Given the description of an element on the screen output the (x, y) to click on. 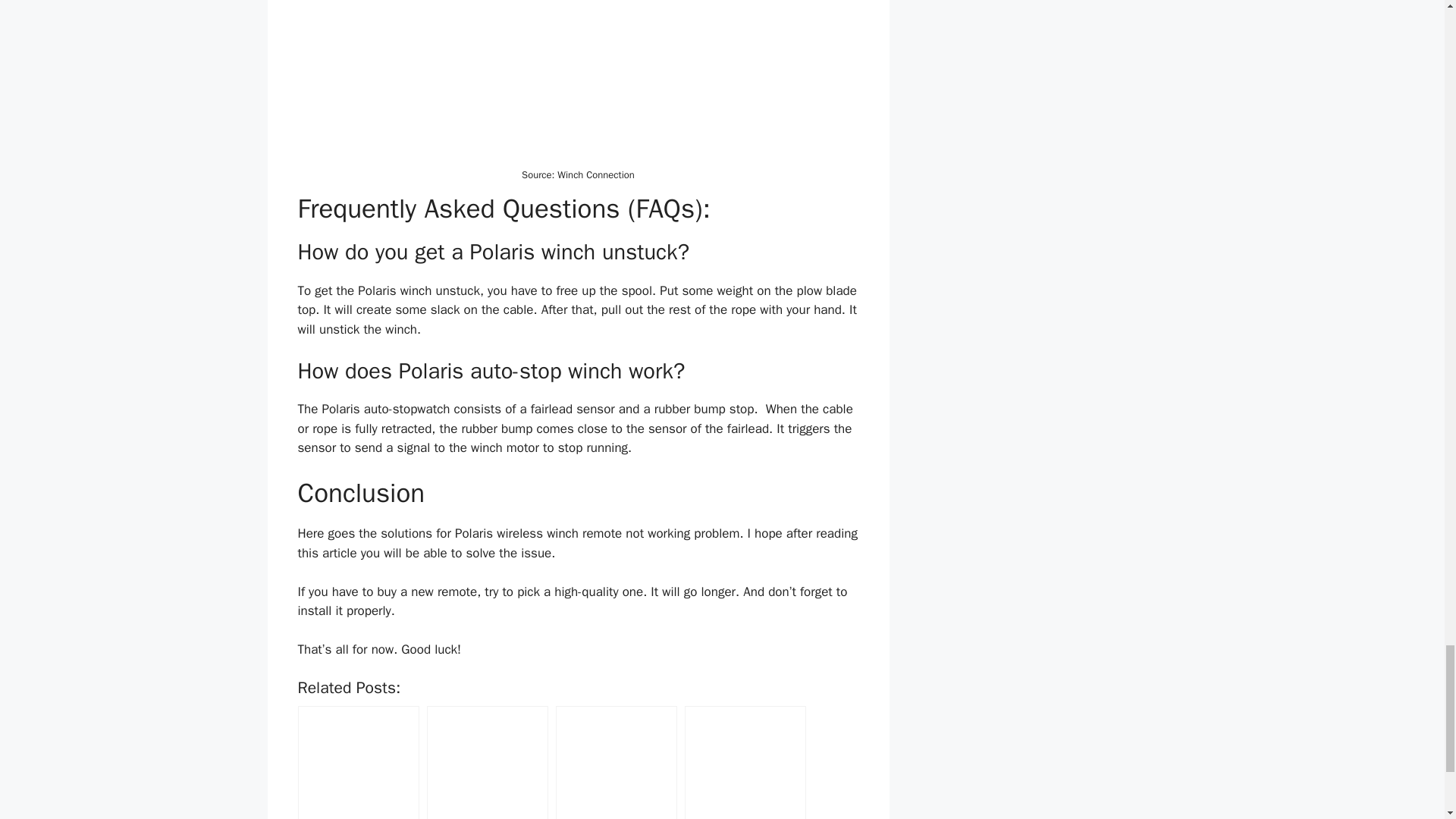
What is Your Fuel Trim Telling You (487, 762)
What is Your Fuel Trim Telling You (487, 762)
How To Troubleshoot P0171 and P0174 Codes (358, 762)
Five Symptoms of Boost Creep (616, 762)
Five Symptoms of Boost Creep (616, 762)
How To Troubleshoot P0171 and P0174 Codes (358, 762)
